Given the description of an element on the screen output the (x, y) to click on. 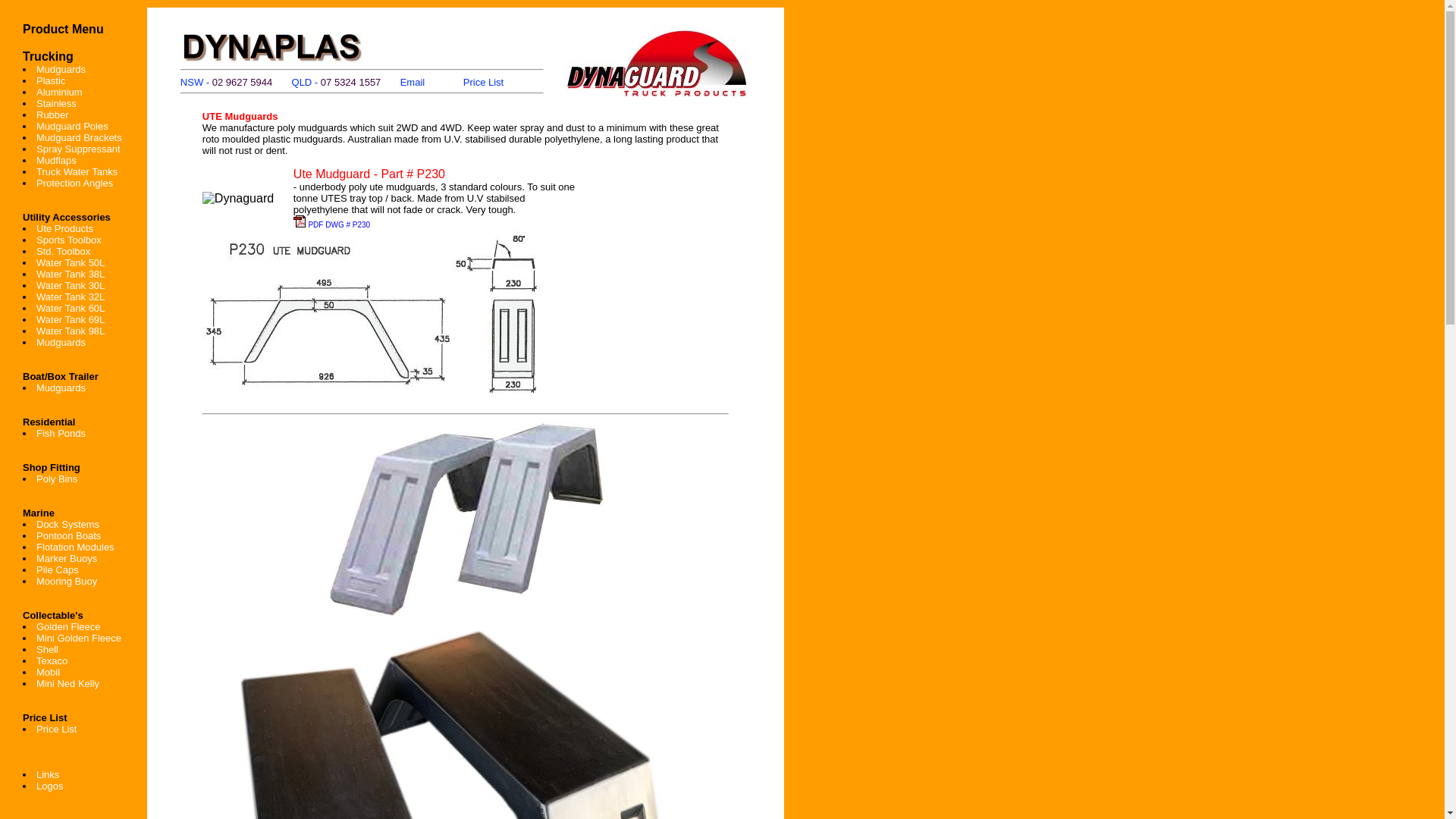
Water Tank 60L Element type: text (70, 307)
Sports Toolbox Element type: text (68, 239)
Mudguards Element type: text (60, 69)
Mobil Element type: text (47, 671)
Rubber Element type: text (52, 114)
Truck Products Element type: text (660, 97)
Poly Bins Element type: text (56, 478)
Pontoon Boats Element type: text (68, 535)
Protection Angles Element type: text (74, 182)
PDF DWG # P230 Element type: text (337, 223)
Links Element type: text (47, 774)
Texaco Element type: text (51, 660)
Golden Fleece Element type: text (68, 626)
Water Tank 98L Element type: text (70, 330)
Shell Element type: text (47, 649)
Dock Systems Element type: text (67, 524)
Mini Golden Fleece Element type: text (78, 637)
Aluminium Element type: text (59, 91)
Mooring Buoy Element type: text (66, 580)
Water Tank 30L Element type: text (70, 285)
Mini Ned Kelly Element type: text (67, 683)
Water Tank 50L Element type: text (70, 262)
Stainless Element type: text (56, 103)
Price List Element type: text (56, 728)
Water Tank 38L Element type: text (70, 273)
Email Element type: text (412, 81)
Mudguard Brackets Element type: text (79, 137)
Water Tank 32L Element type: text (70, 296)
Logos Element type: text (49, 785)
Plastic Element type: text (50, 80)
Flotation Modules Element type: text (75, 546)
Spray Suppressant Element type: text (78, 148)
Pile Caps Element type: text (57, 569)
Marker Buoys Element type: text (66, 558)
Std. Toolbox Element type: text (63, 251)
Mudflaps Element type: text (56, 160)
Mudguard Poles Element type: text (72, 125)
Fish Ponds Element type: text (60, 433)
Mudguards Element type: text (60, 387)
Water Tank 69L Element type: text (70, 319)
Ute Products Element type: text (64, 228)
Truck Water Tanks Element type: text (76, 171)
Price List Element type: text (483, 81)
Mudguards Element type: text (60, 342)
